Given the description of an element on the screen output the (x, y) to click on. 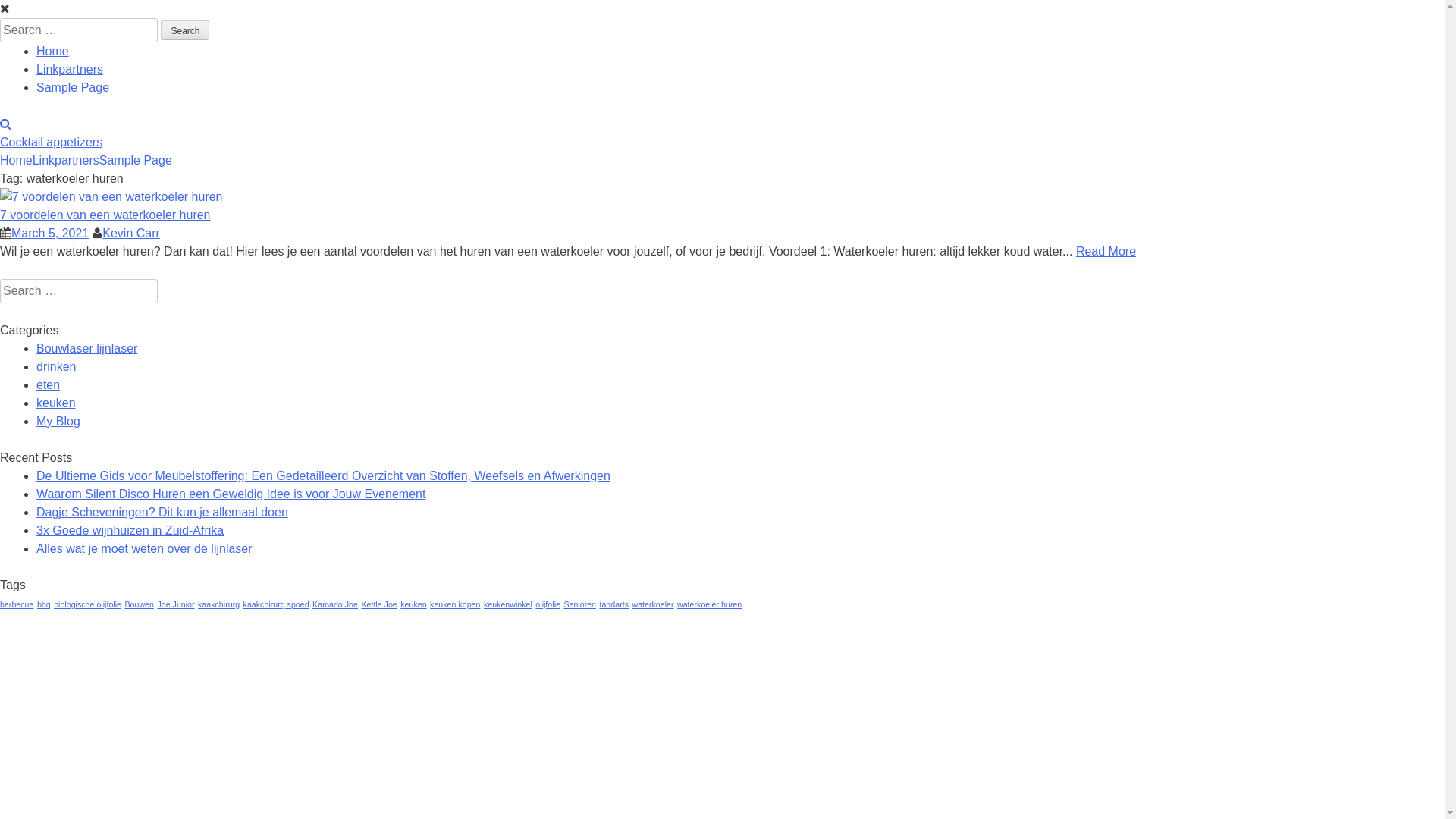
biologische olijfolie Element type: text (87, 603)
Bouwlaser lijnlaser Element type: text (86, 348)
Bouwen Element type: text (138, 603)
Sample Page Element type: text (135, 160)
Kettle Joe Element type: text (378, 603)
olijfolie Element type: text (547, 603)
Linkpartners Element type: text (65, 160)
Sample Page Element type: text (72, 87)
waterkoeler huren Element type: text (709, 603)
Joe Junior Element type: text (175, 603)
kaakchirurg Element type: text (218, 603)
barbecue Element type: text (16, 603)
drinken Element type: text (55, 366)
Cocktail appetizers Element type: text (51, 141)
keuken kopen Element type: text (454, 603)
Kamado Joe Element type: text (334, 603)
Linkpartners Element type: text (69, 68)
eten Element type: text (47, 384)
kaakchirurg spoed Element type: text (276, 603)
Alles wat je moet weten over de lijnlaser Element type: text (144, 548)
3x Goede wijnhuizen in Zuid-Afrika Element type: text (129, 530)
Senioren Element type: text (579, 603)
7 voordelen van een waterkoeler huren Element type: hover (111, 196)
bbq Element type: text (43, 603)
Home Element type: text (52, 50)
tandarts Element type: text (613, 603)
keuken Element type: text (413, 603)
7 voordelen van een waterkoeler huren Element type: text (105, 214)
Search Element type: text (24, 9)
My Blog Element type: text (58, 420)
waterkoeler Element type: text (652, 603)
Search Element type: text (184, 30)
keuken Element type: text (55, 402)
Dagje Scheveningen? Dit kun je allemaal doen Element type: text (162, 511)
Read More Element type: text (1105, 250)
Kevin Carr Element type: text (131, 232)
Home Element type: text (16, 160)
keukenwinkel Element type: text (507, 603)
March 5, 2021 Element type: text (49, 232)
